Given the description of an element on the screen output the (x, y) to click on. 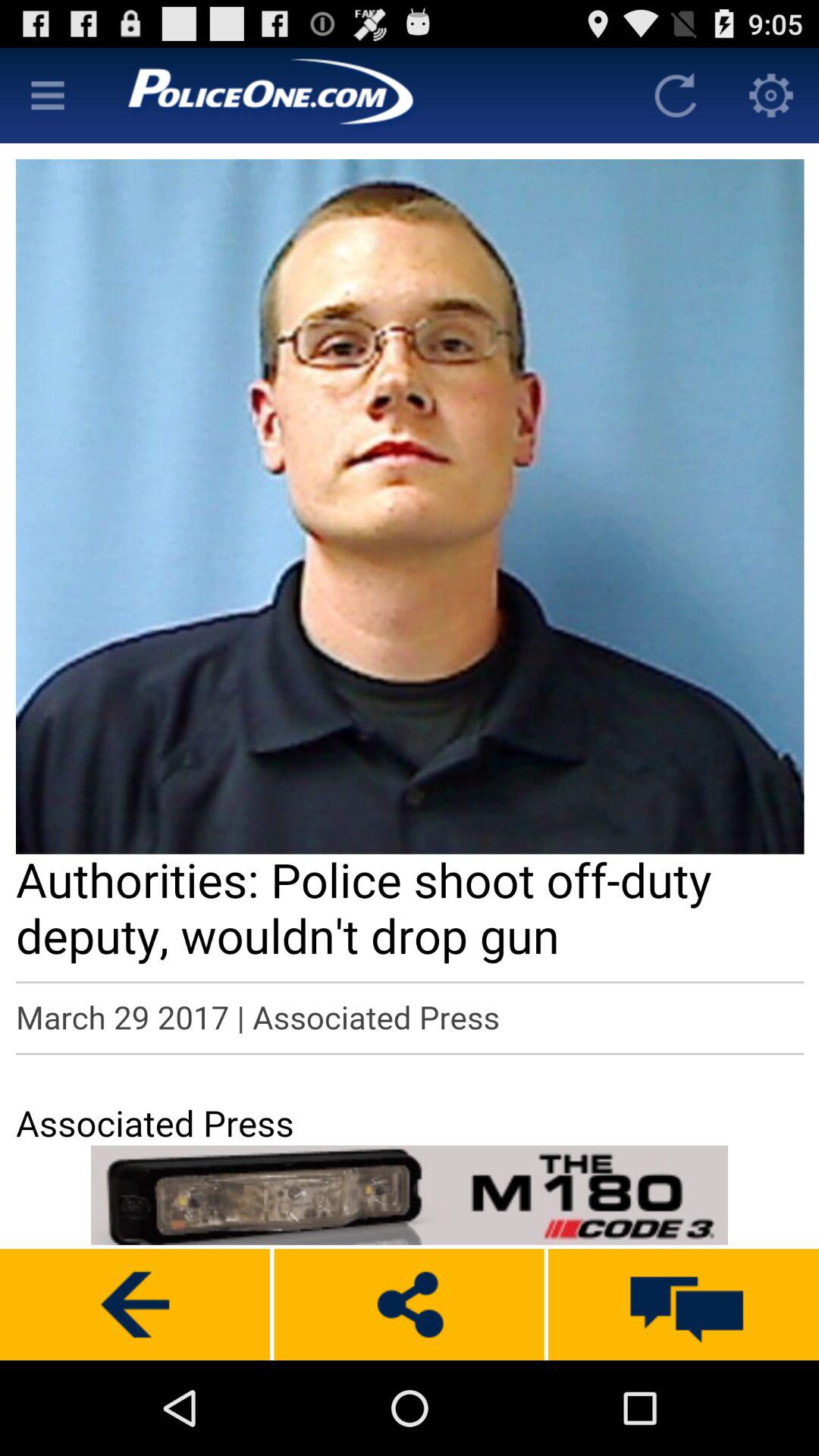
refresh page (675, 95)
